Given the description of an element on the screen output the (x, y) to click on. 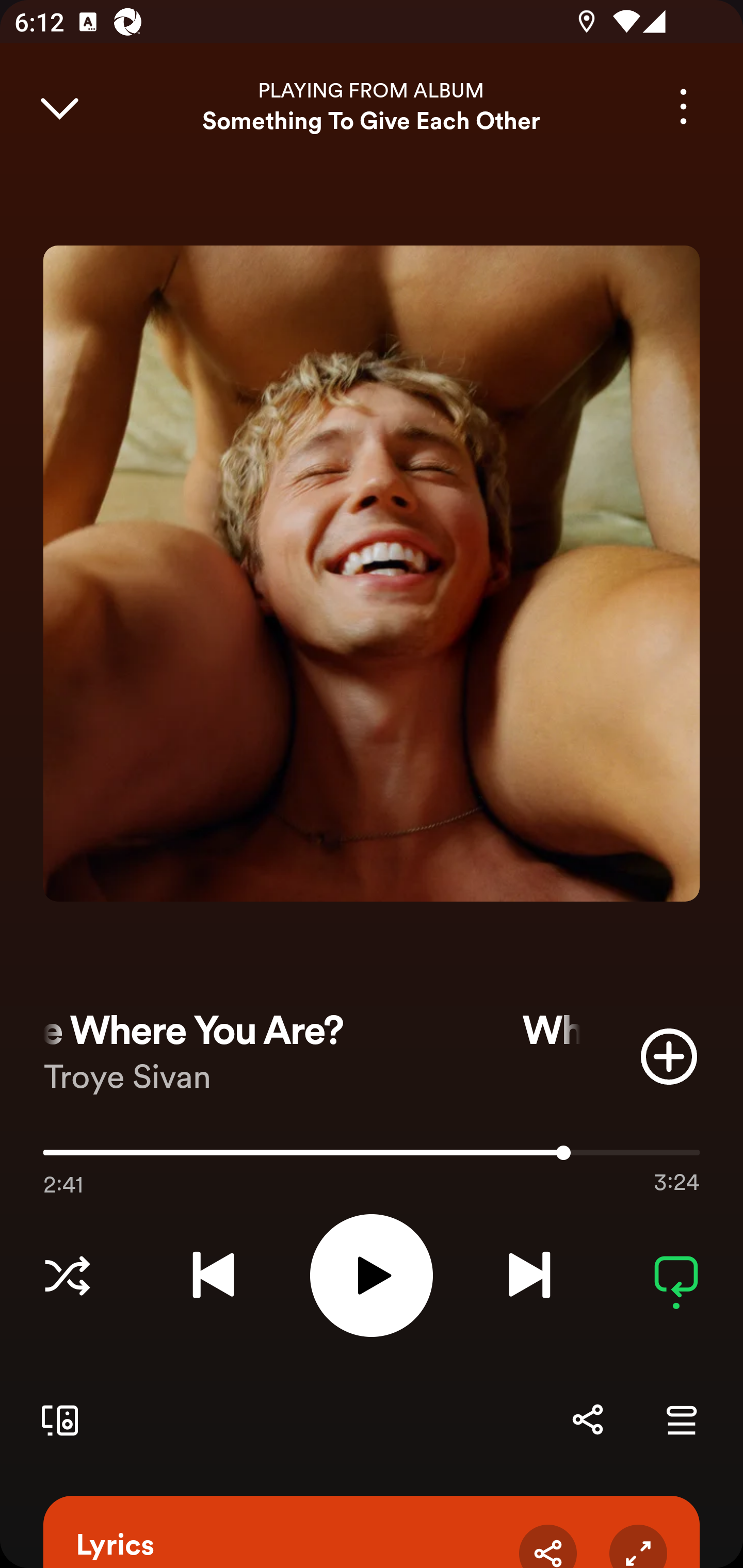
Close (59, 106)
PLAYING FROM ALBUM Something To Give Each Other (371, 106)
Add item (669, 1056)
2:41 3:24 161714.0 Use volume keys to adjust (371, 1157)
Play (371, 1275)
Previous (212, 1275)
Next (529, 1275)
Choose a Listening Mode (66, 1275)
Repeat (676, 1275)
Share (587, 1419)
Go to Queue (681, 1419)
Connect to a device. Opens the devices menu (55, 1419)
Lyrics Share Expand (371, 1531)
Share (547, 1546)
Expand (638, 1546)
